Given the description of an element on the screen output the (x, y) to click on. 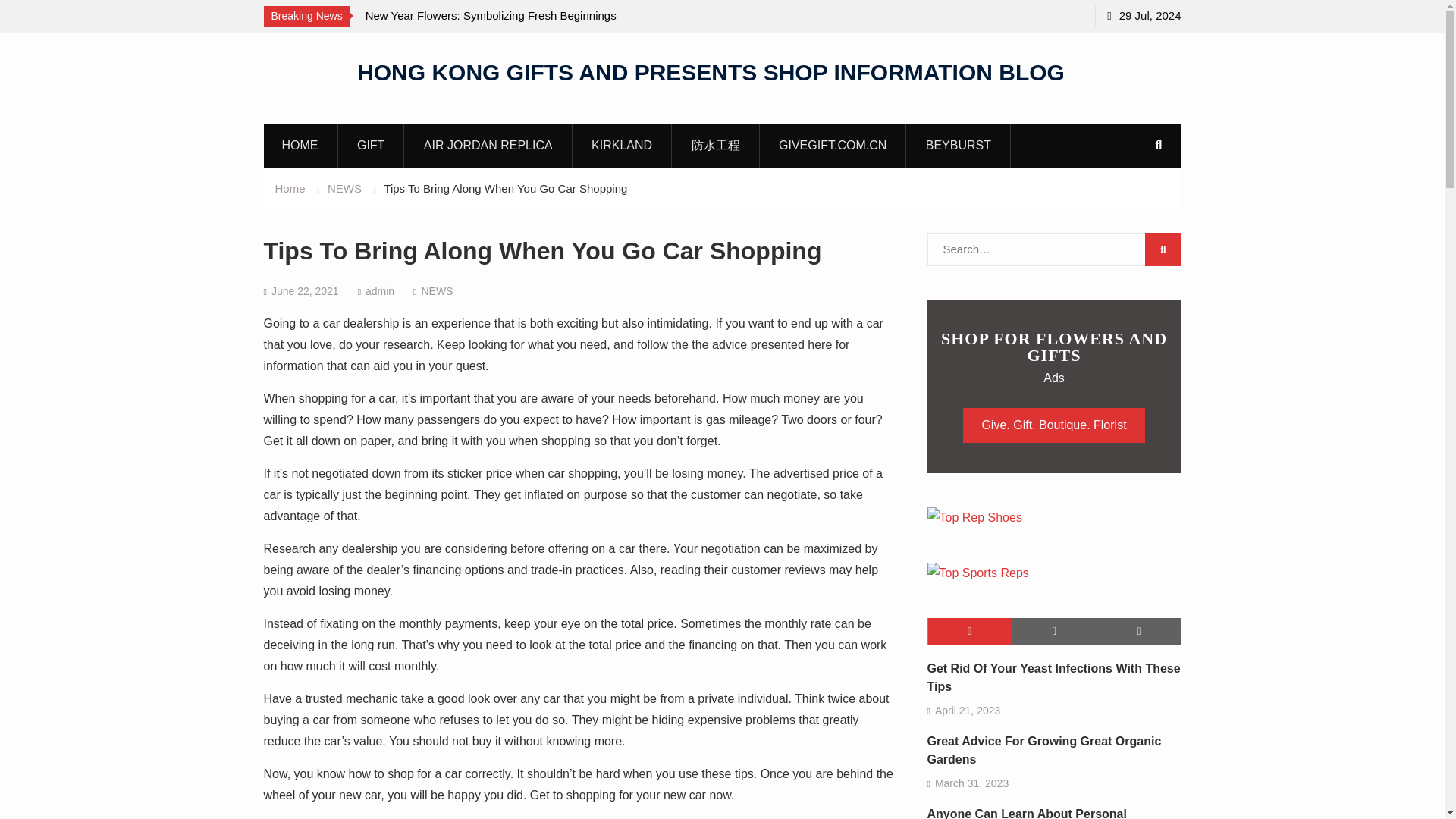
HONG KONG GIFTS AND PRESENTS SHOP INFORMATION BLOG (710, 71)
AIR JORDAN REPLICA (488, 144)
NEWS (344, 187)
GIVEGIFT.COM.CN (832, 144)
NEWS (436, 291)
admin (379, 291)
KIRKLAND (621, 144)
Home (289, 187)
Search for: (1053, 249)
Give. Gift. Boutique. Florist (1053, 425)
GIFT (370, 144)
New Year Flowers: Symbolizing Fresh Beginnings and Hope (502, 25)
HOME (299, 144)
BEYBURST (958, 144)
